Given the description of an element on the screen output the (x, y) to click on. 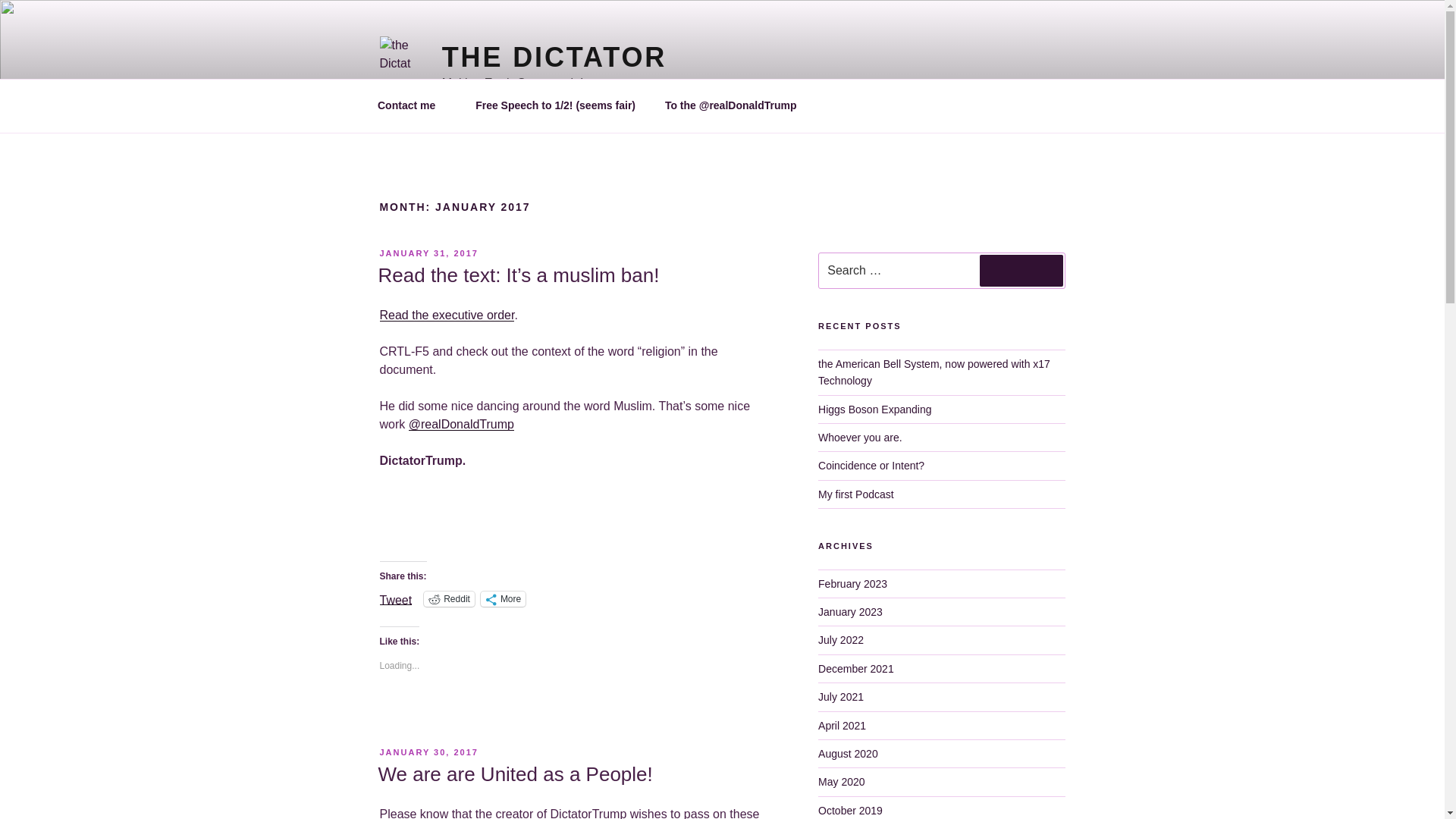
JANUARY 31, 2017 (427, 252)
We are are United as a People! (514, 773)
Reddit (448, 598)
THE DICTATOR (554, 56)
Tweet (395, 598)
Read the executive order (445, 314)
Contact me (411, 105)
JANUARY 30, 2017 (427, 751)
More (502, 598)
Click to share on Reddit (448, 598)
